Given the description of an element on the screen output the (x, y) to click on. 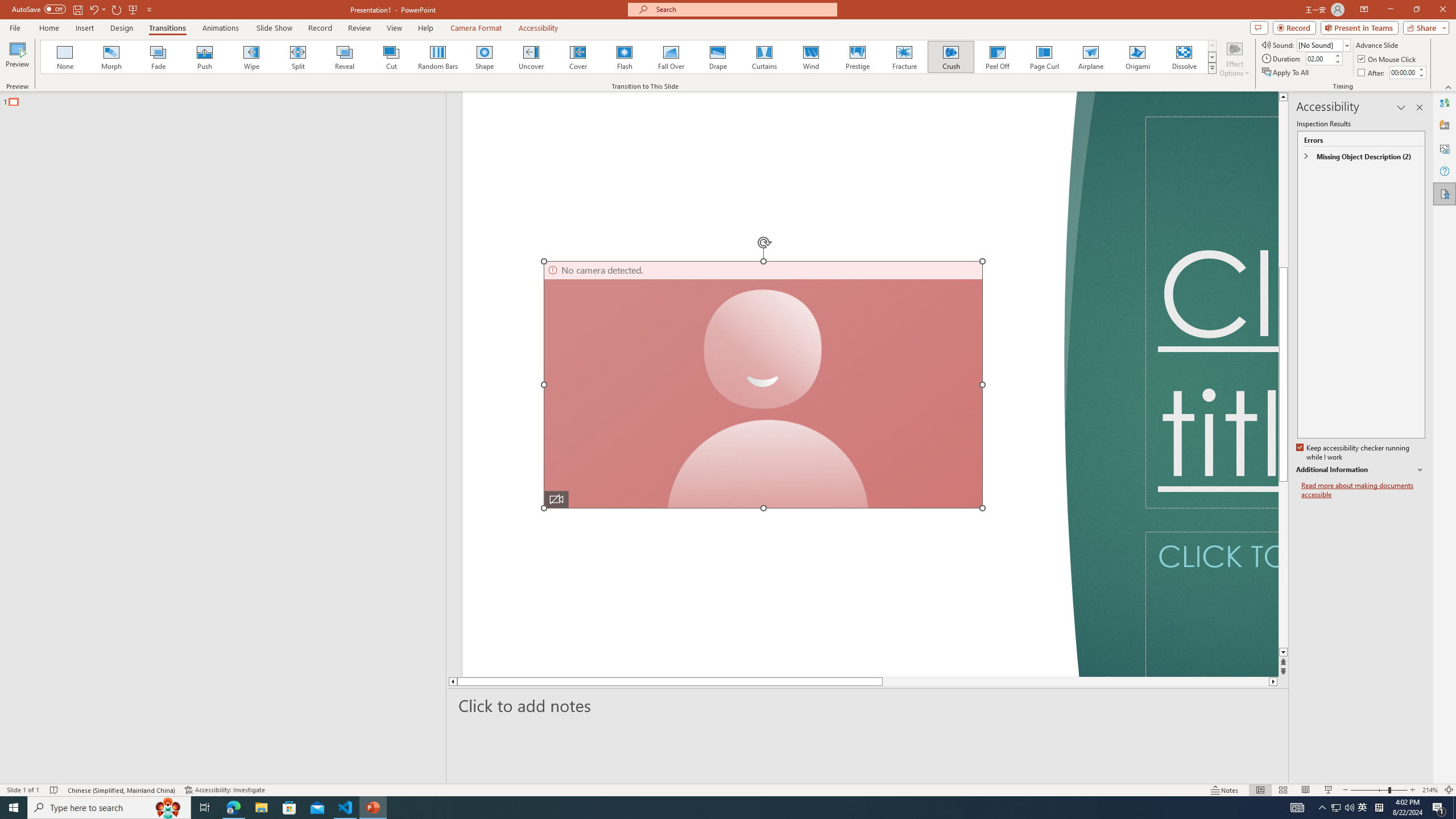
Curtains (764, 56)
Prestige (857, 56)
Split (298, 56)
After (1403, 72)
Camera 7, No camera detected. (762, 384)
